Given the description of an element on the screen output the (x, y) to click on. 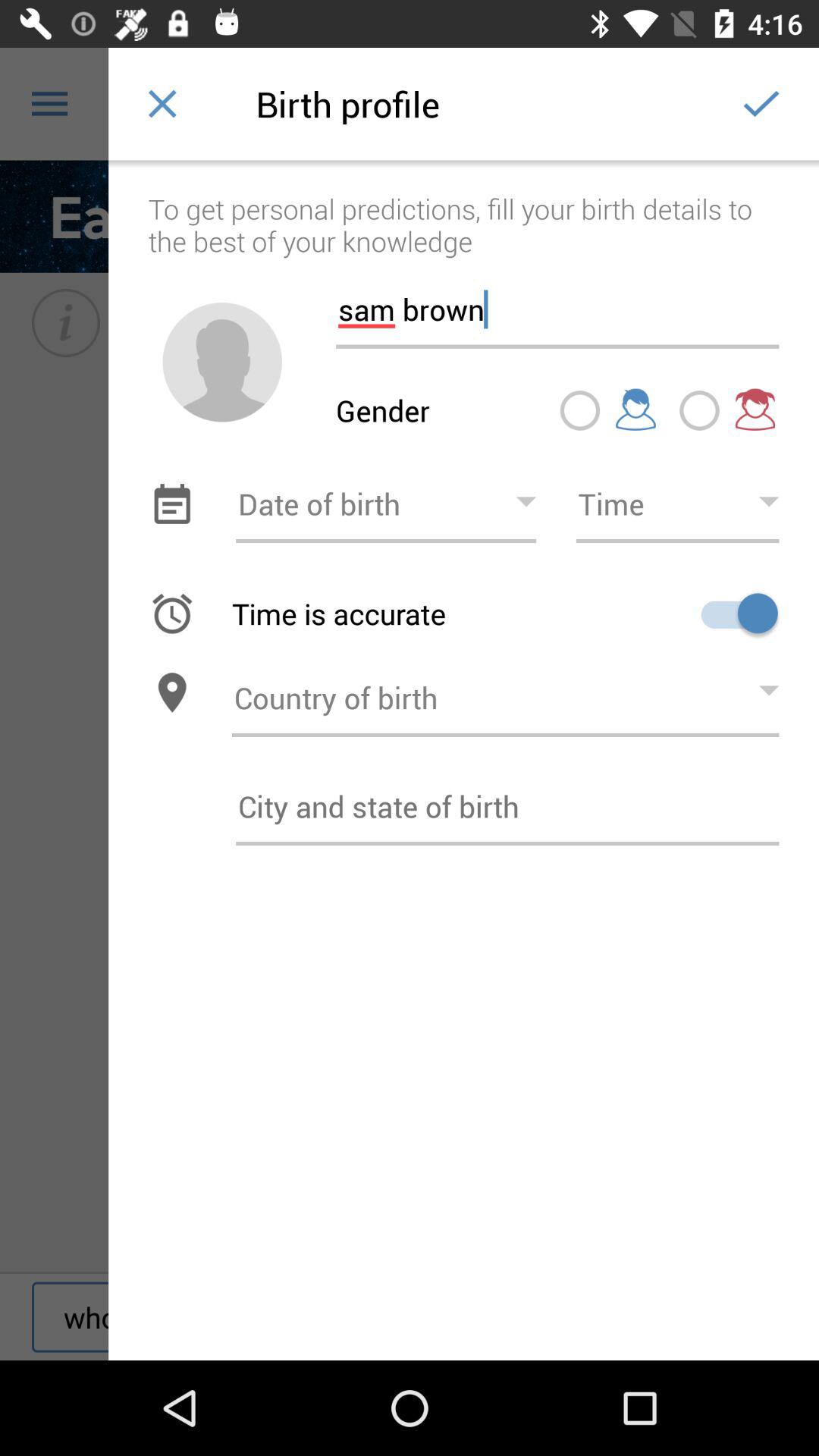
click the item above sam brown item (463, 209)
